Given the description of an element on the screen output the (x, y) to click on. 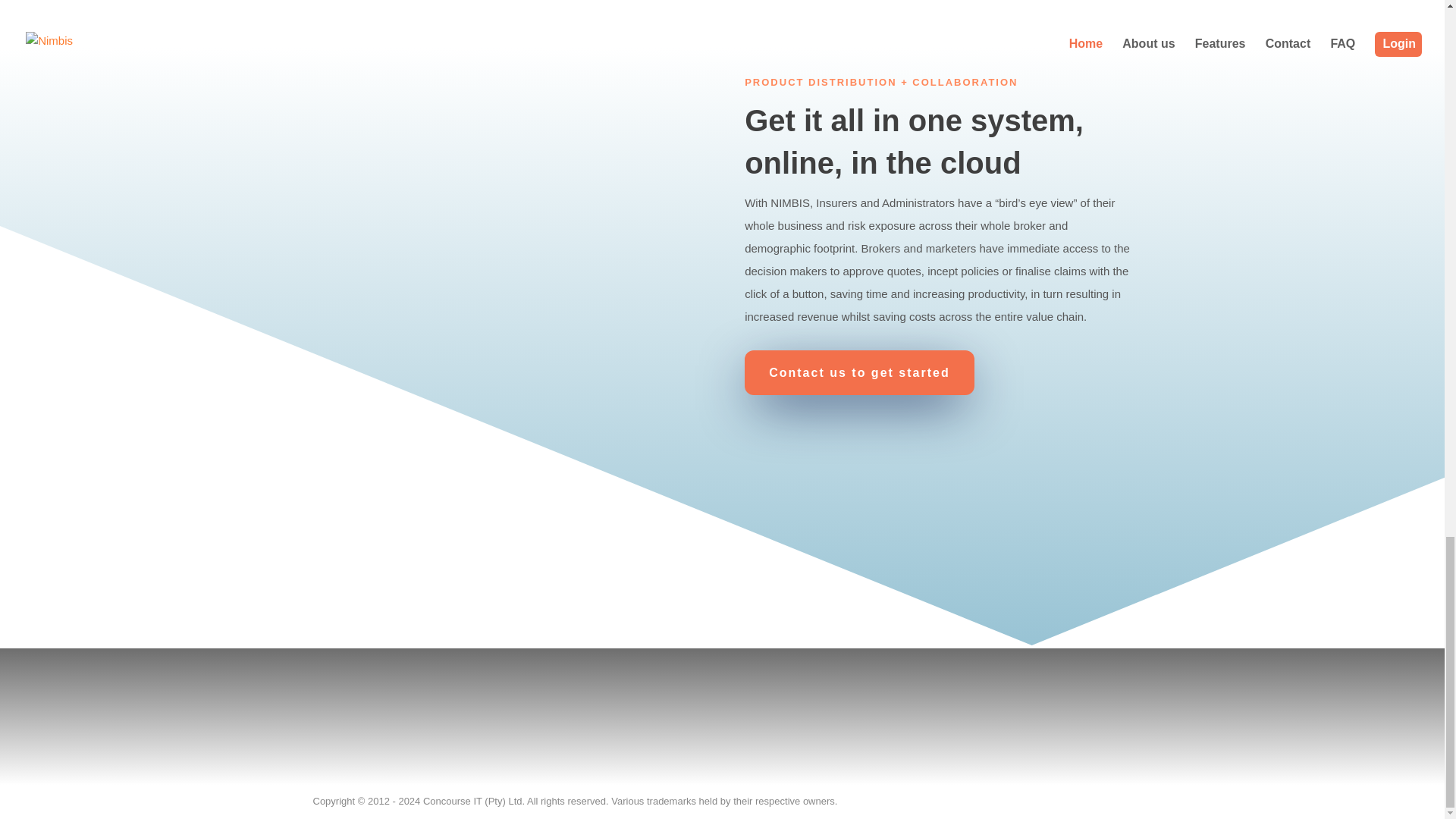
Contact us to get started (859, 372)
